Given the description of an element on the screen output the (x, y) to click on. 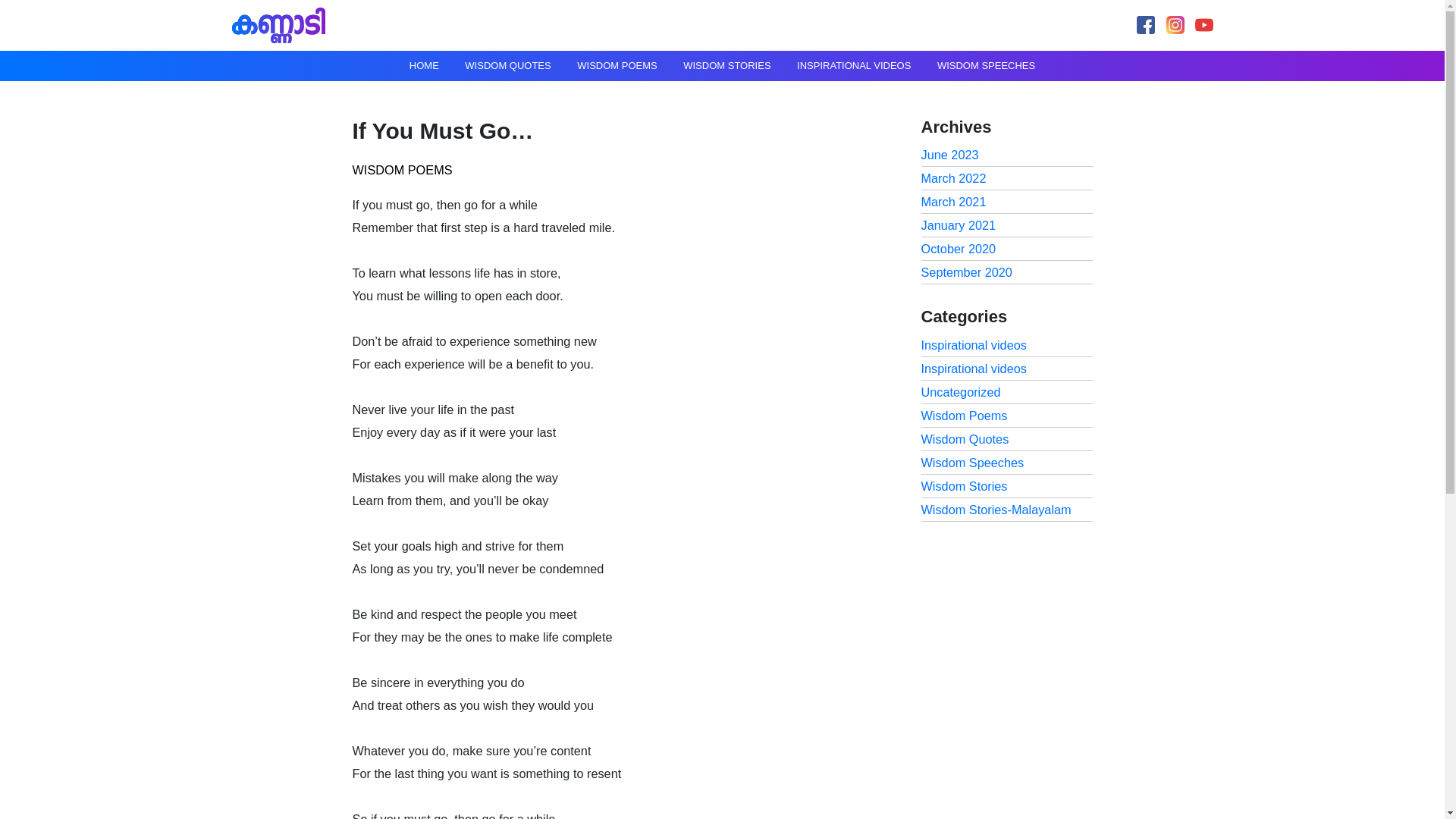
WISDOM POEMS (401, 169)
June 2023 (949, 154)
October 2020 (957, 248)
WISDOM STORIES (726, 65)
WISDOM POEMS (617, 65)
March 2021 (952, 201)
HOME (423, 65)
WISDOM SPEECHES (986, 65)
WISDOM QUOTES (507, 65)
March 2022 (952, 178)
January 2021 (957, 224)
INSPIRATIONAL VIDEOS (853, 65)
